Given the description of an element on the screen output the (x, y) to click on. 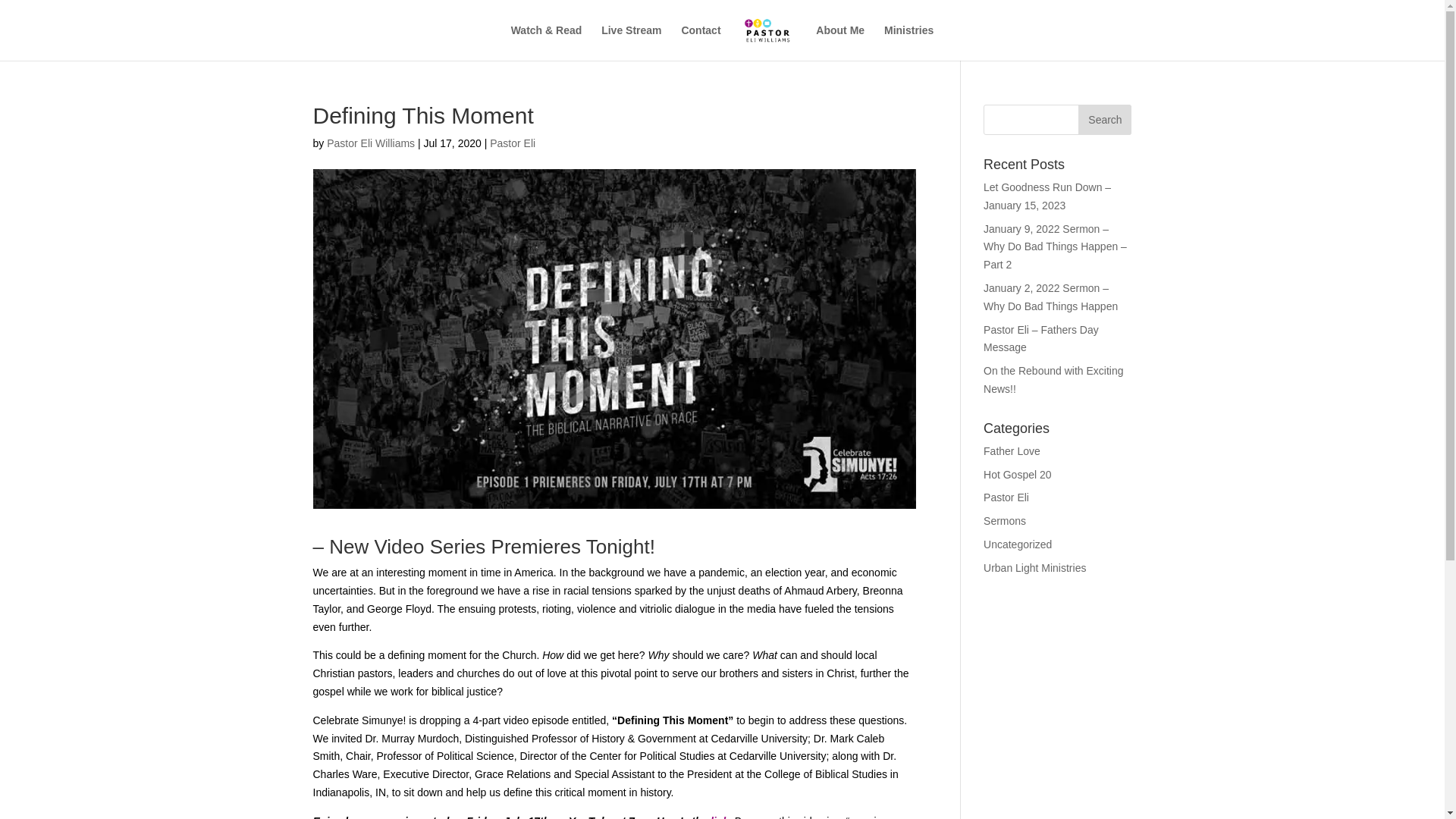
Sermons (1005, 521)
Contact (700, 42)
Search (1104, 119)
Father Love (1012, 451)
link (719, 816)
Search (1104, 119)
Urban Light Ministries (1035, 567)
Pastor Eli (1006, 497)
Hot Gospel 20 (1017, 474)
Posts by Pastor Eli Williams (370, 143)
